Given the description of an element on the screen output the (x, y) to click on. 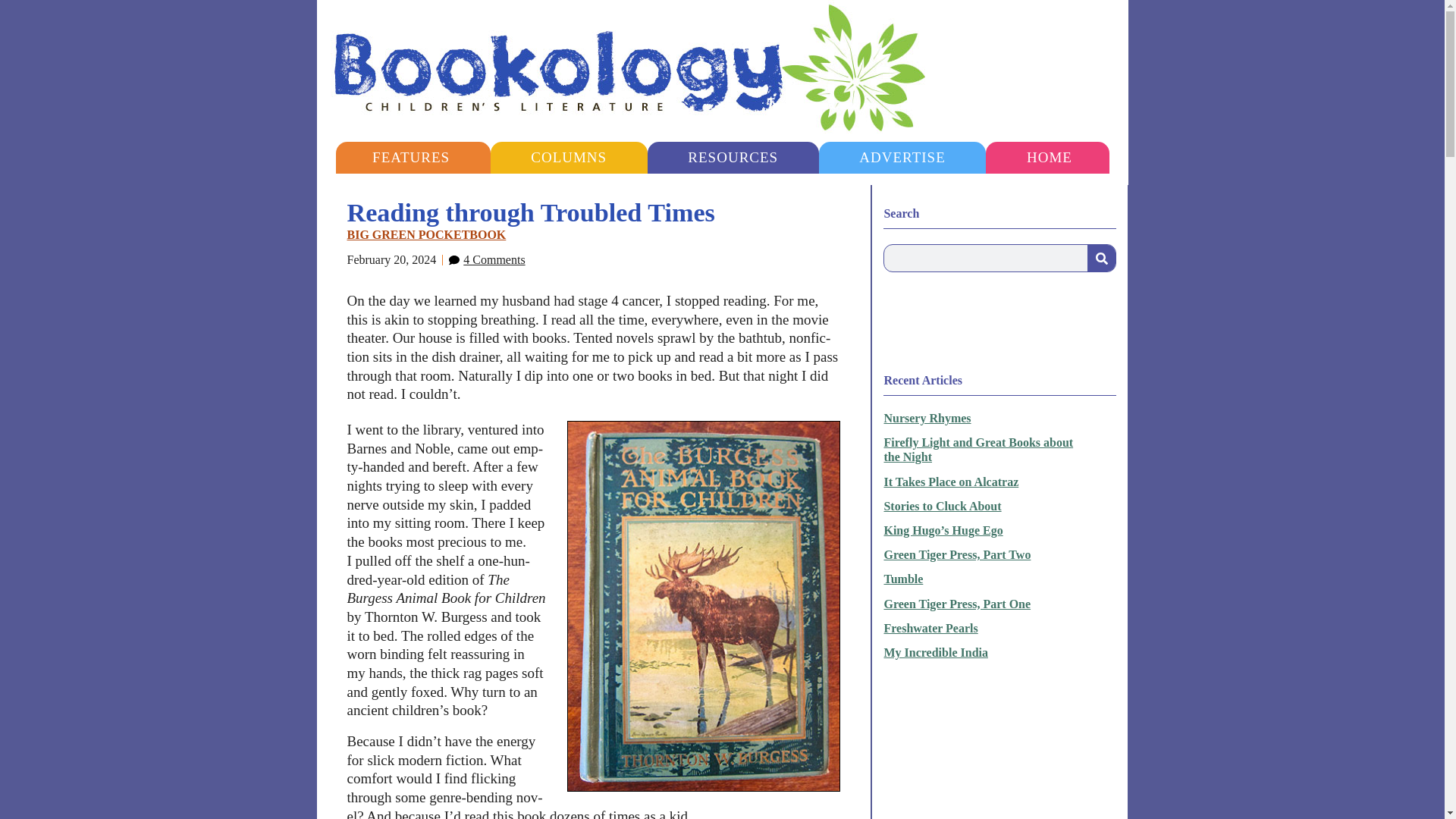
FEATURES (410, 157)
ADVERTISE (902, 157)
COLUMNS (569, 157)
HOME (1049, 157)
RESOURCES (732, 157)
